Given the description of an element on the screen output the (x, y) to click on. 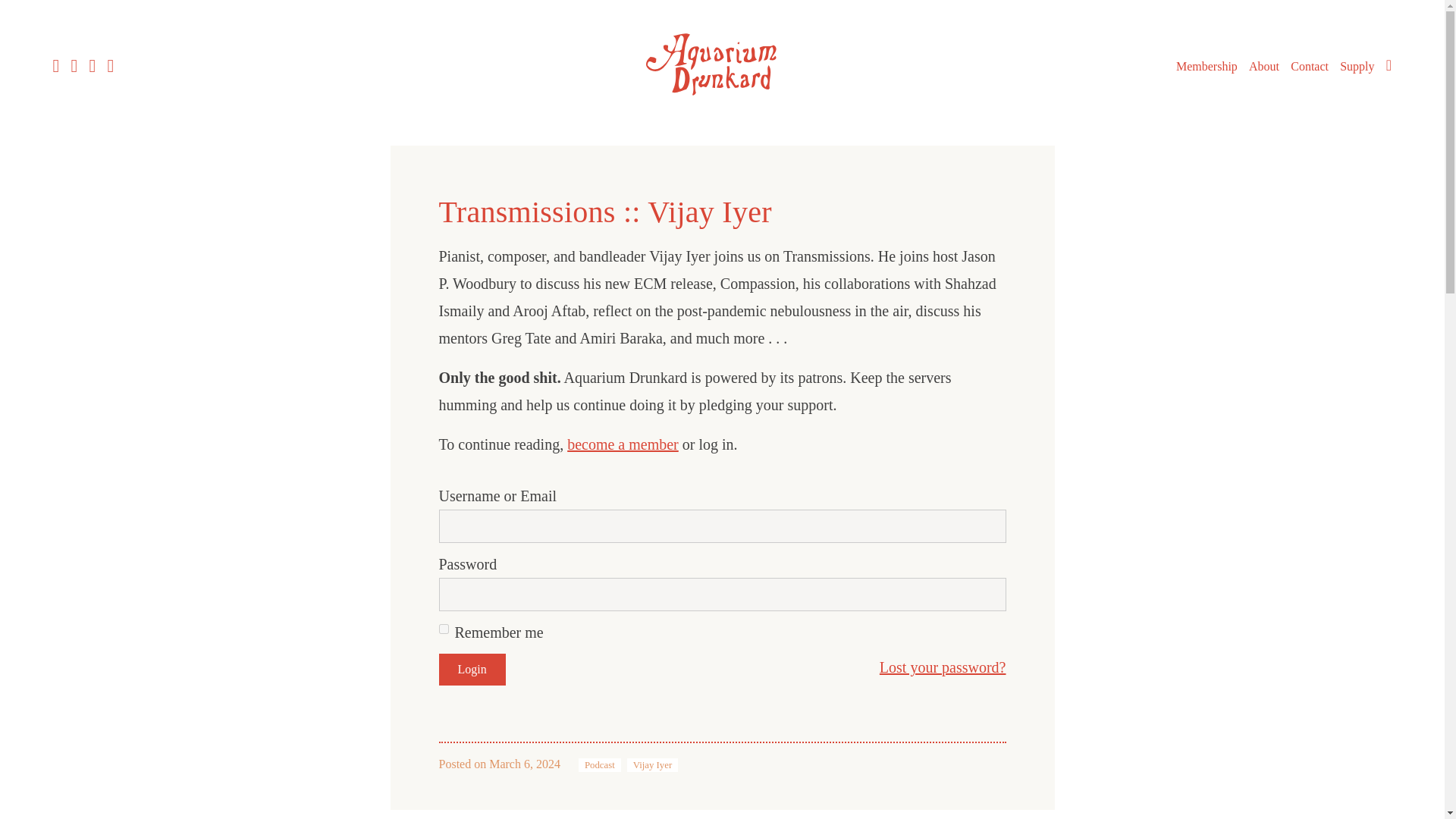
Vijay Iyer (652, 765)
Supply (1356, 66)
1 (443, 628)
Lost your password? (942, 667)
Aquarium Drunkard (721, 100)
Podcast (599, 765)
About Aquarium Drunkard (1264, 66)
Aquarium Drunkard Merch Shop (1356, 66)
Login (471, 669)
Contact (1308, 66)
March 6, 2024 (524, 763)
Membership (1206, 66)
Login (471, 669)
Aquarium Drunkard (721, 64)
About (1264, 66)
